Given the description of an element on the screen output the (x, y) to click on. 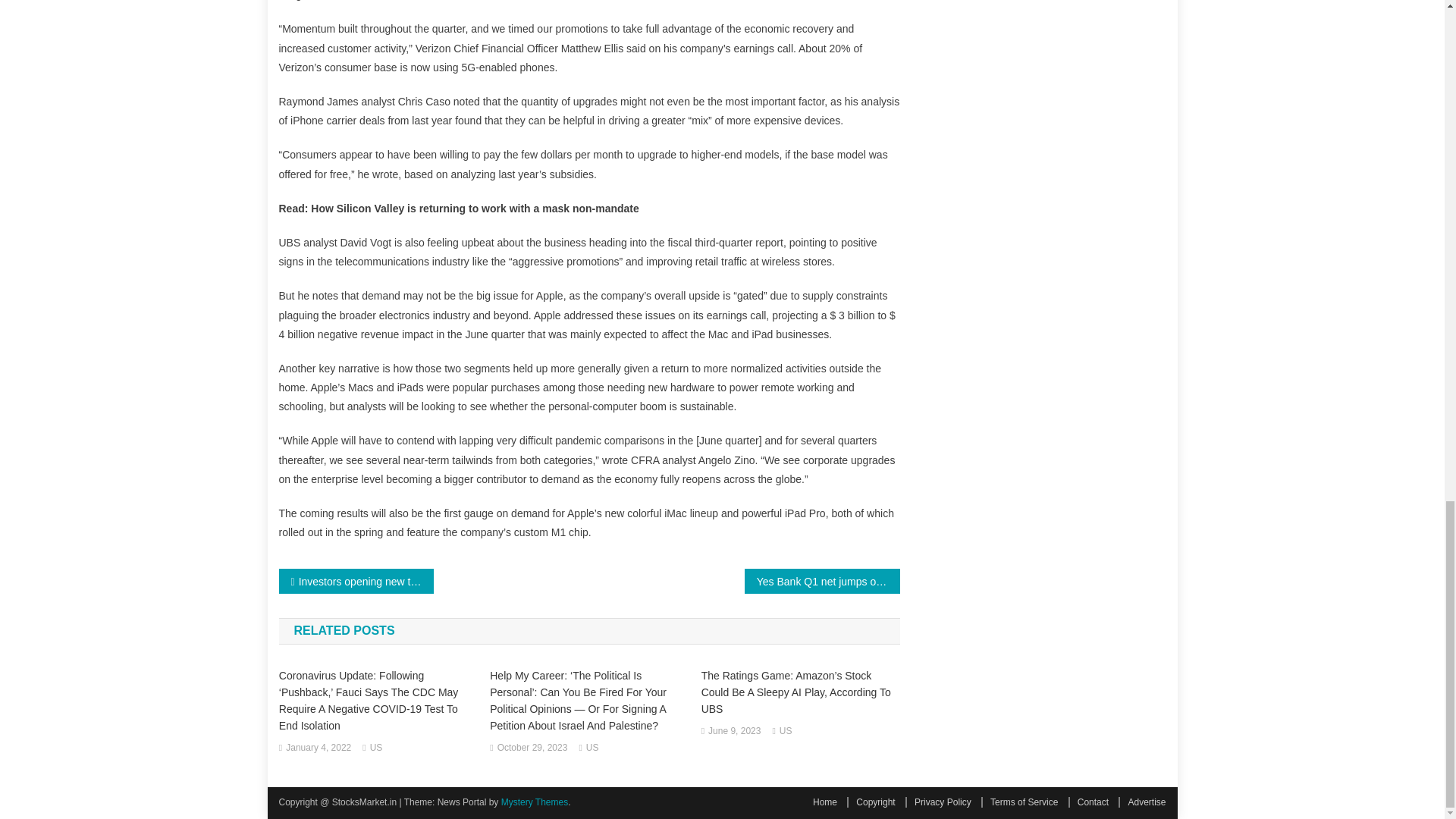
June 9, 2023 (733, 731)
Yes Bank Q1 net jumps over four-fold to Rs 207 crore (821, 580)
October 29, 2023 (532, 748)
January 4, 2022 (317, 748)
